Given the description of an element on the screen output the (x, y) to click on. 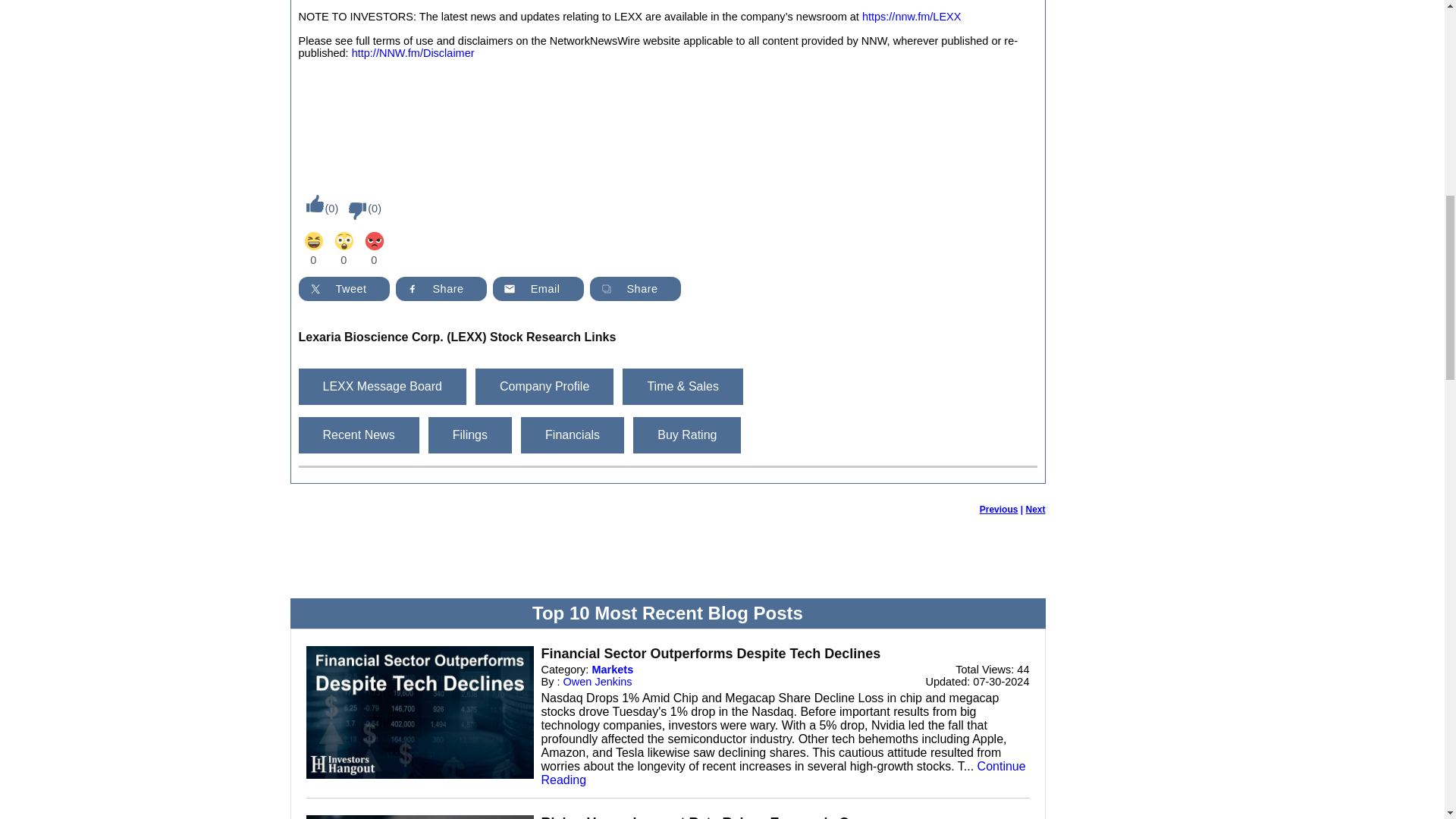
LEXX Stock Financials (572, 435)
LEXX Stock Company Profile (544, 386)
LEXX Stock Message Board (381, 386)
Article Author: Owen Jenkins's Profile (597, 681)
Blog Category: Markets (612, 669)
LEXX Stock Filings (470, 435)
LEXX Stock Recent News (358, 435)
Dislike This Post (353, 211)
LEXX Stock Buy Rating (687, 435)
Like This Post (310, 203)
